Given the description of an element on the screen output the (x, y) to click on. 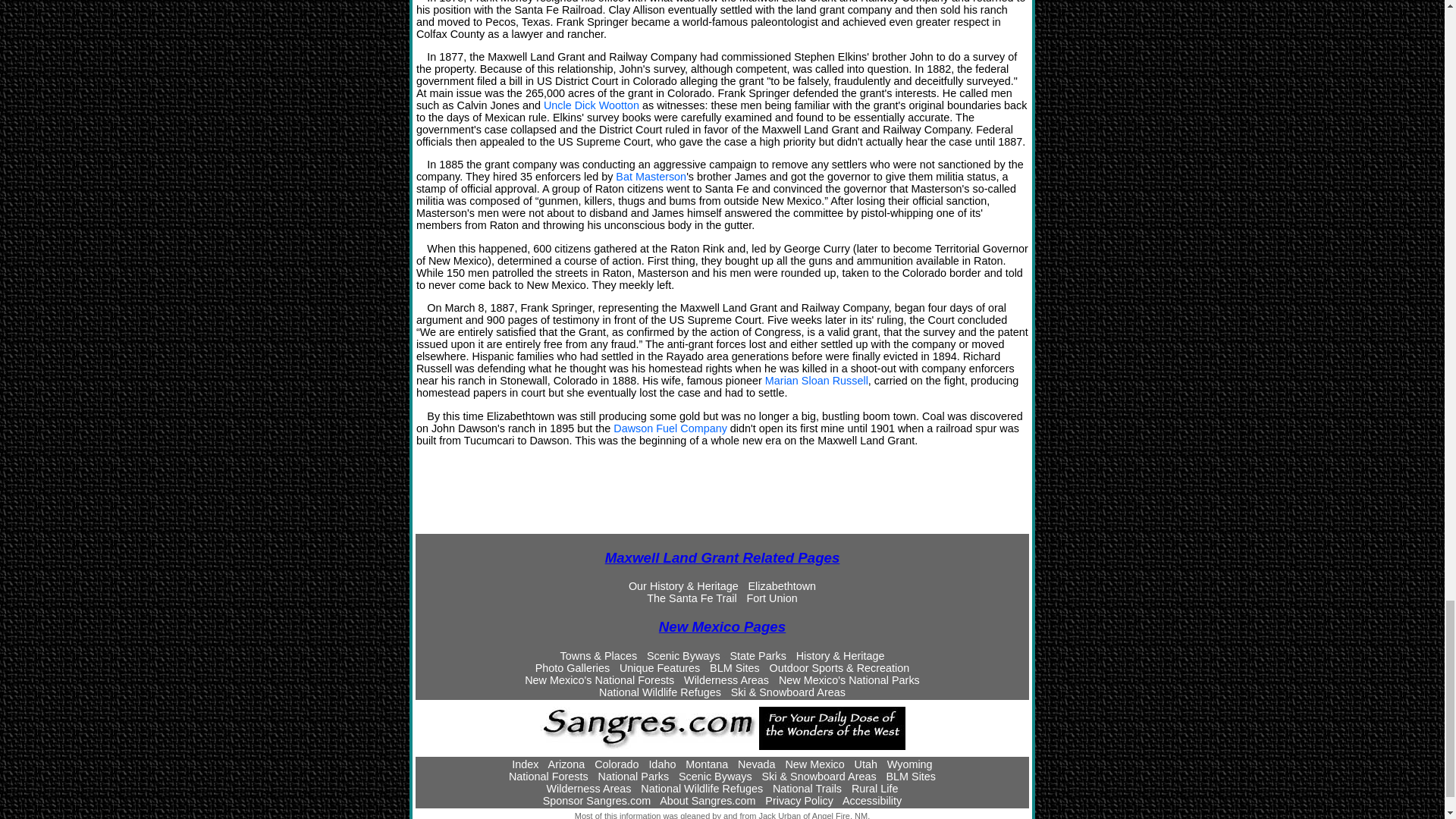
National Wildlife Refuges (659, 692)
Marian Sloan Russell (816, 380)
State Parks (757, 655)
Photo Galleries (572, 667)
Links to more New Mexico information, maps and photos (722, 626)
Women on the Santa Fe Trail (816, 380)
Fort Union (770, 598)
Unique Features (660, 667)
New Mexico Pages (722, 626)
Maxwell Land Grant Related Pages (722, 557)
New Mexico Information, Photos and Maps (598, 655)
New Mexico's National Parks (849, 680)
Santa Fe National Historic Trail (691, 598)
Links to related pages (722, 557)
Index (525, 764)
